Given the description of an element on the screen output the (x, y) to click on. 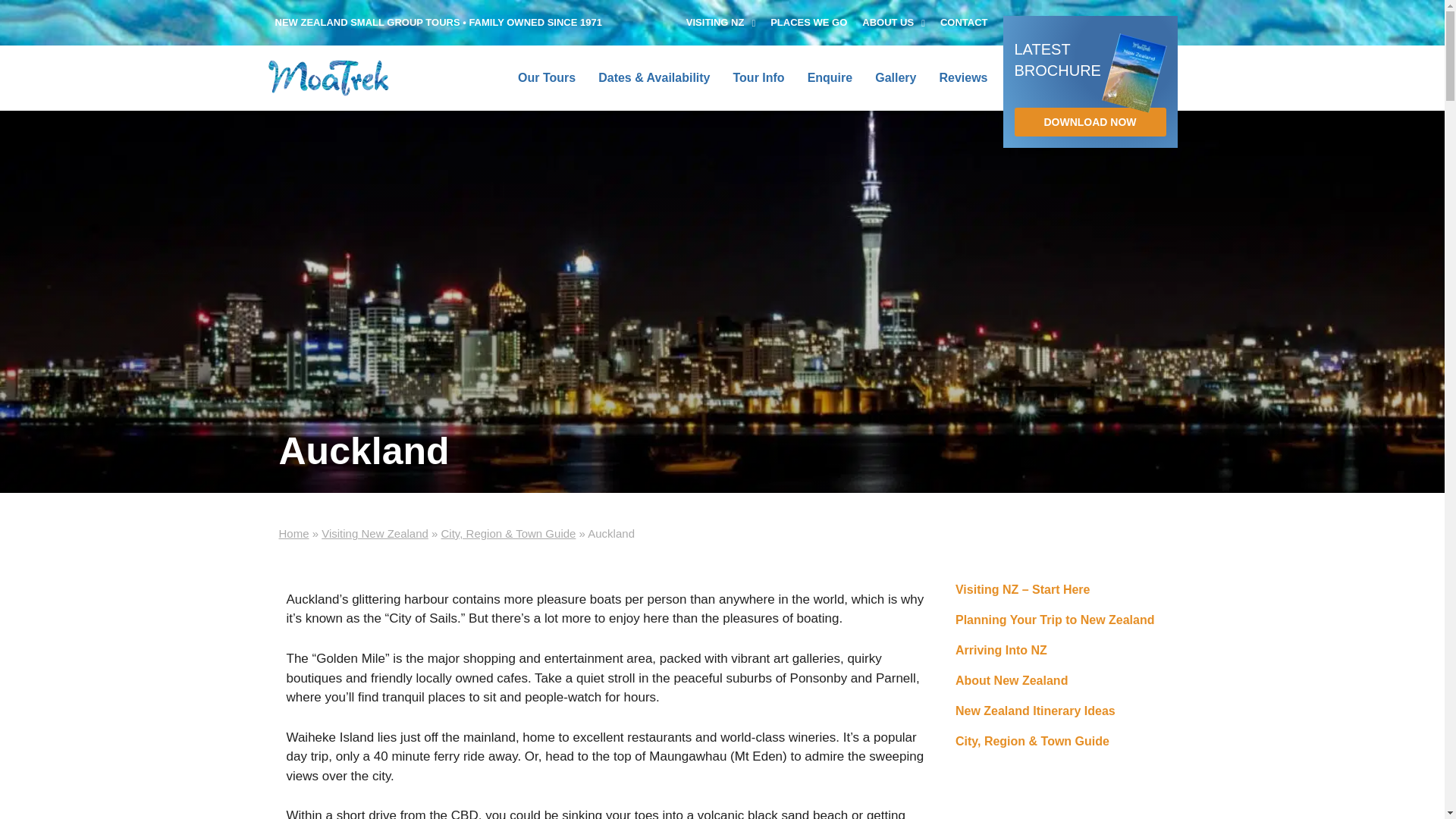
PLACES WE GO (808, 22)
CONTACT (964, 22)
Our Tours (546, 77)
Tour Info (758, 77)
VISITING NZ (720, 22)
ABOUT US (893, 22)
